Given the description of an element on the screen output the (x, y) to click on. 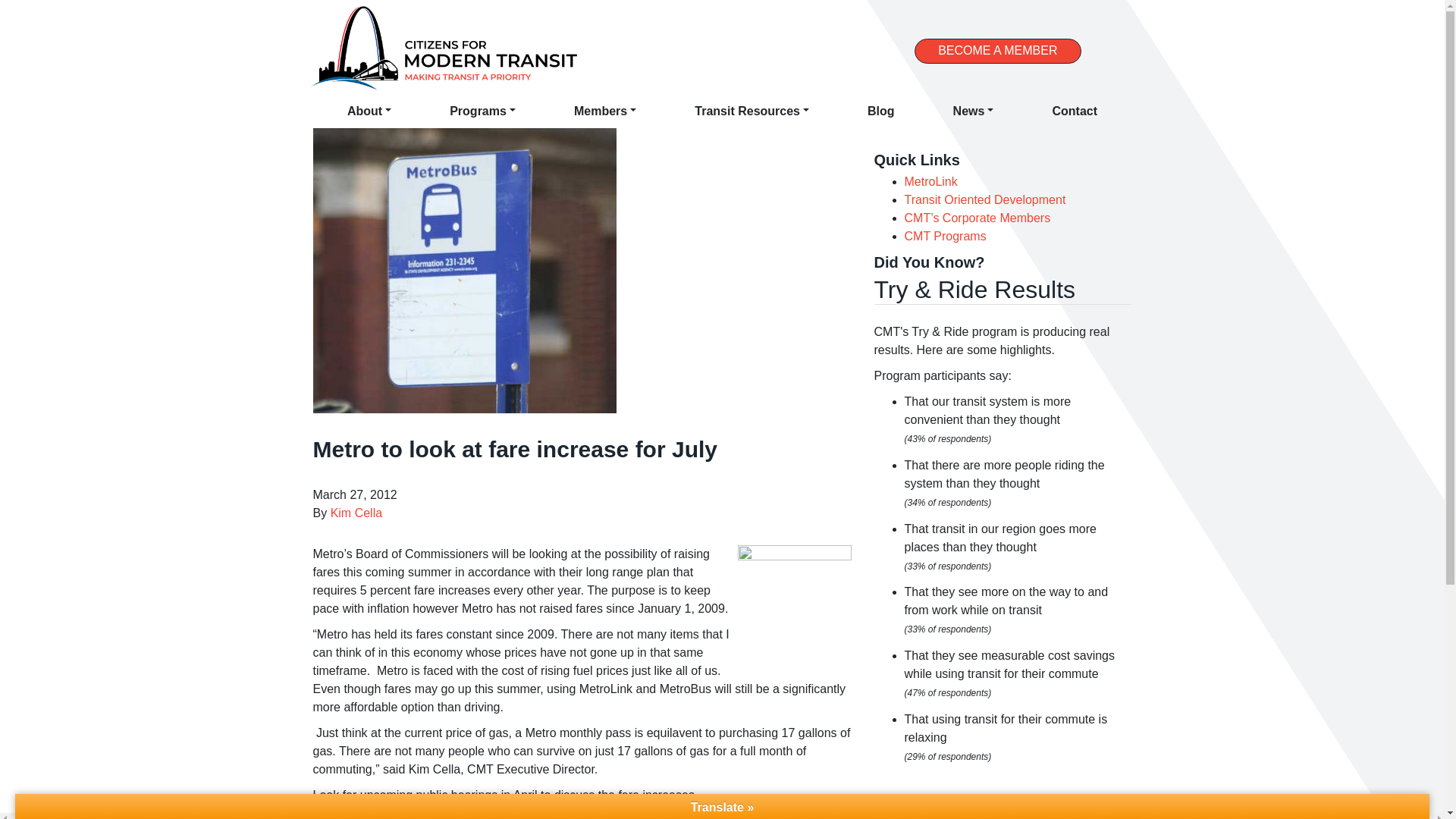
News (973, 111)
Contact (1074, 111)
BECOME A MEMBER (997, 50)
Members (605, 111)
Bus Stop Stl (793, 602)
About (368, 111)
Transit Resources (751, 111)
Blog (880, 111)
Citizens For Modern Transit (442, 48)
Kim Cella (355, 512)
Programs (482, 111)
Metro to look at fare increase for July (464, 270)
